Given the description of an element on the screen output the (x, y) to click on. 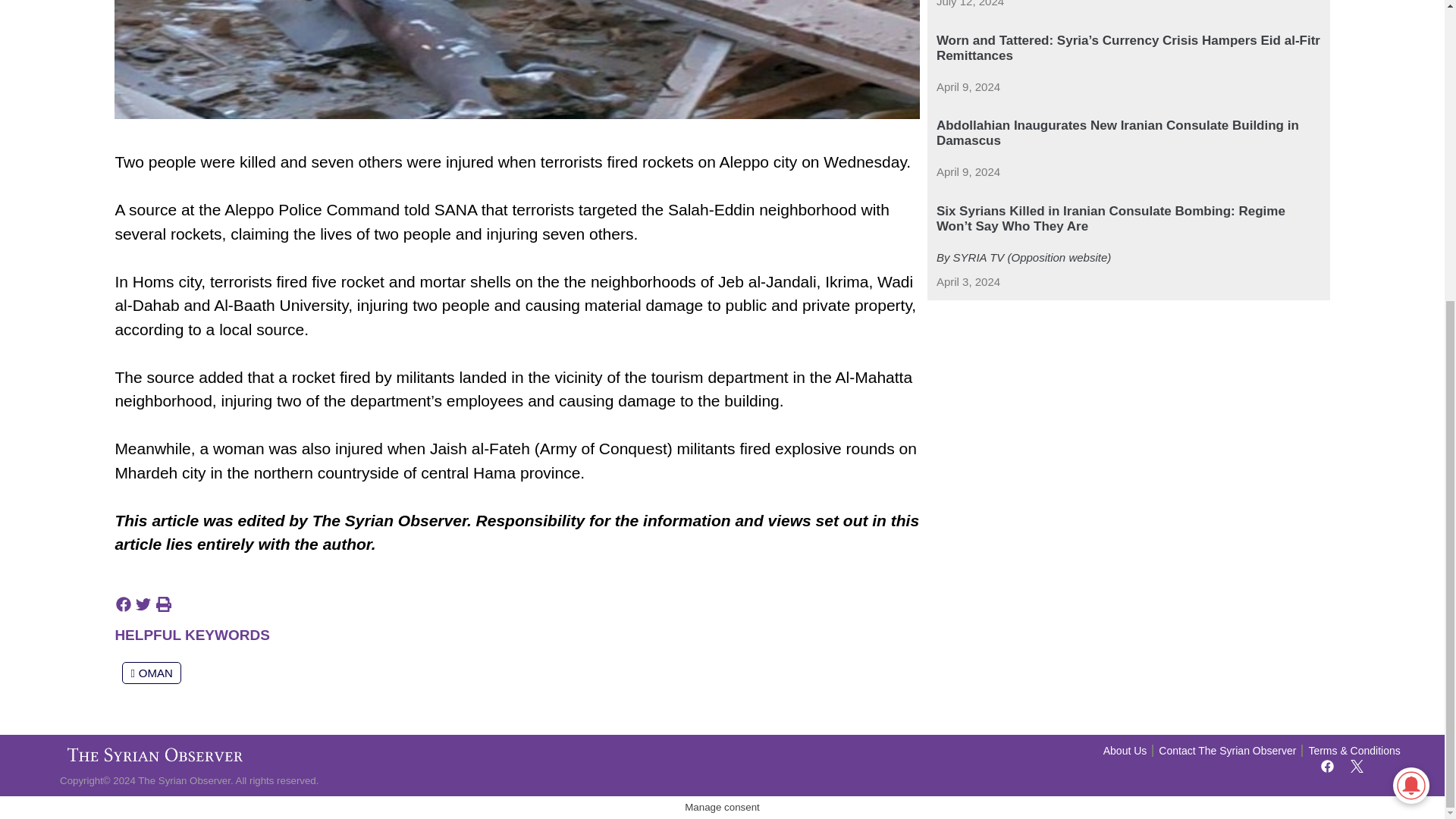
About Us (1125, 750)
July 12, 2024 (970, 5)
OMAN (151, 672)
Contact The Syrian Observer (1227, 750)
April 9, 2024 (968, 171)
April 9, 2024 (968, 87)
April 3, 2024 (968, 282)
